Given the description of an element on the screen output the (x, y) to click on. 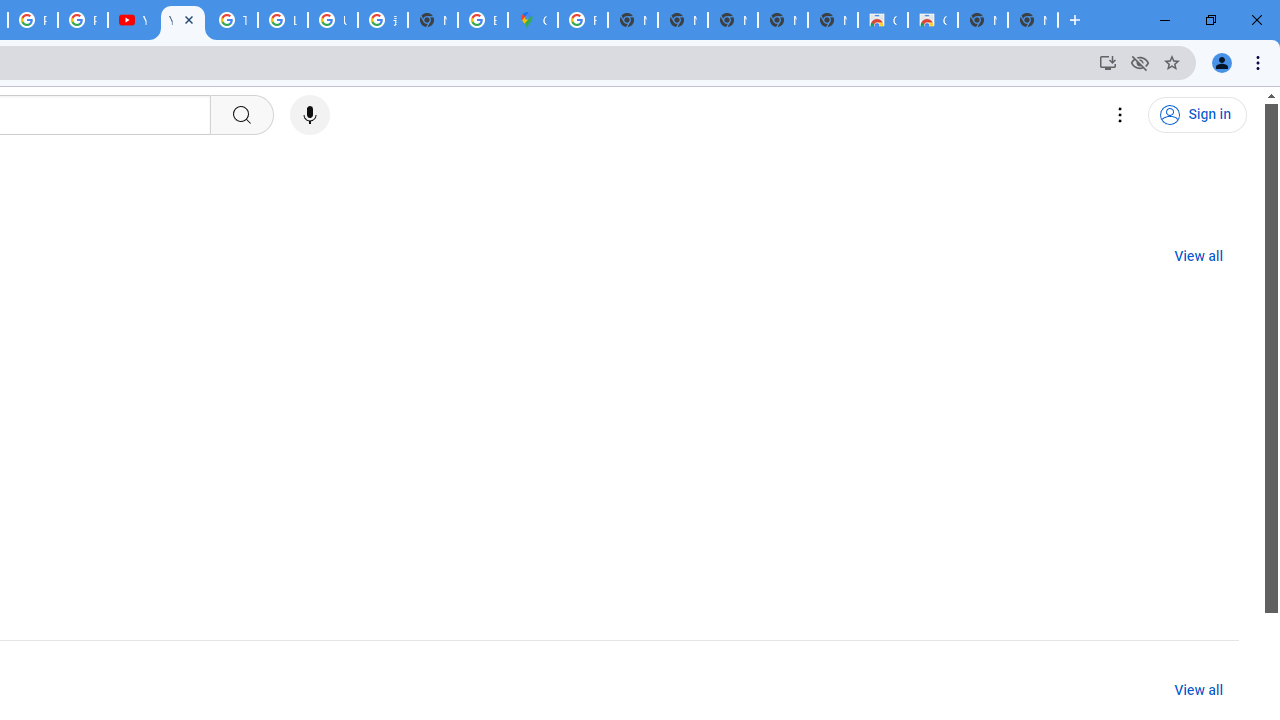
Explore new street-level details - Google Maps Help (483, 20)
Privacy Checkup (82, 20)
New Tab (1032, 20)
View all (1198, 690)
Install YouTube (1107, 62)
Settings (1119, 115)
Tips & tricks for Chrome - Google Chrome Help (232, 20)
